Given the description of an element on the screen output the (x, y) to click on. 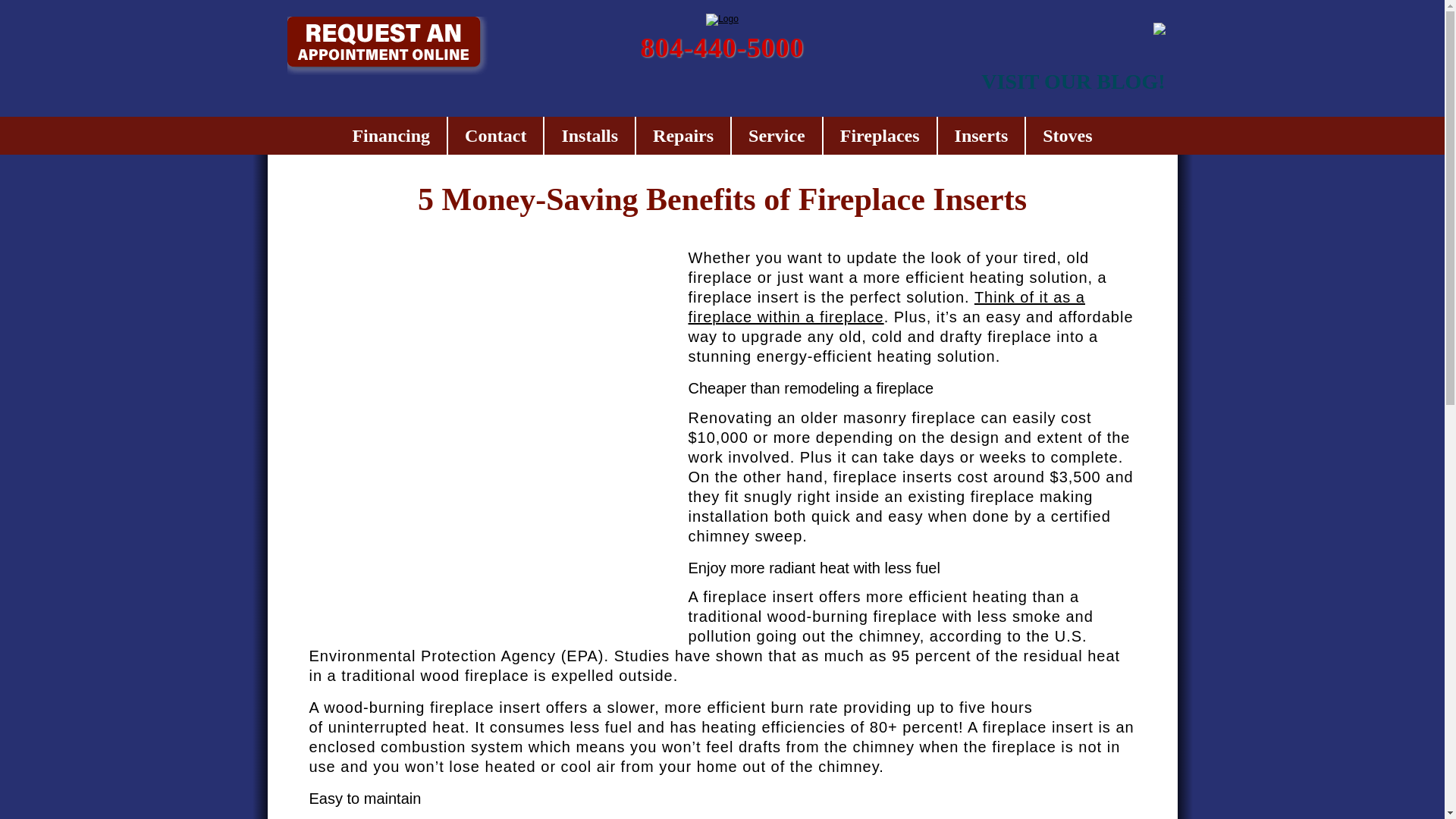
Financing (390, 135)
Chimney Saver Solutions (722, 19)
Repairs (683, 135)
804-440-5000 (722, 47)
VISIT OUR BLOG! (1072, 81)
Installs (589, 135)
Contact (495, 135)
Chimney Saver Solutions (722, 19)
